Given the description of an element on the screen output the (x, y) to click on. 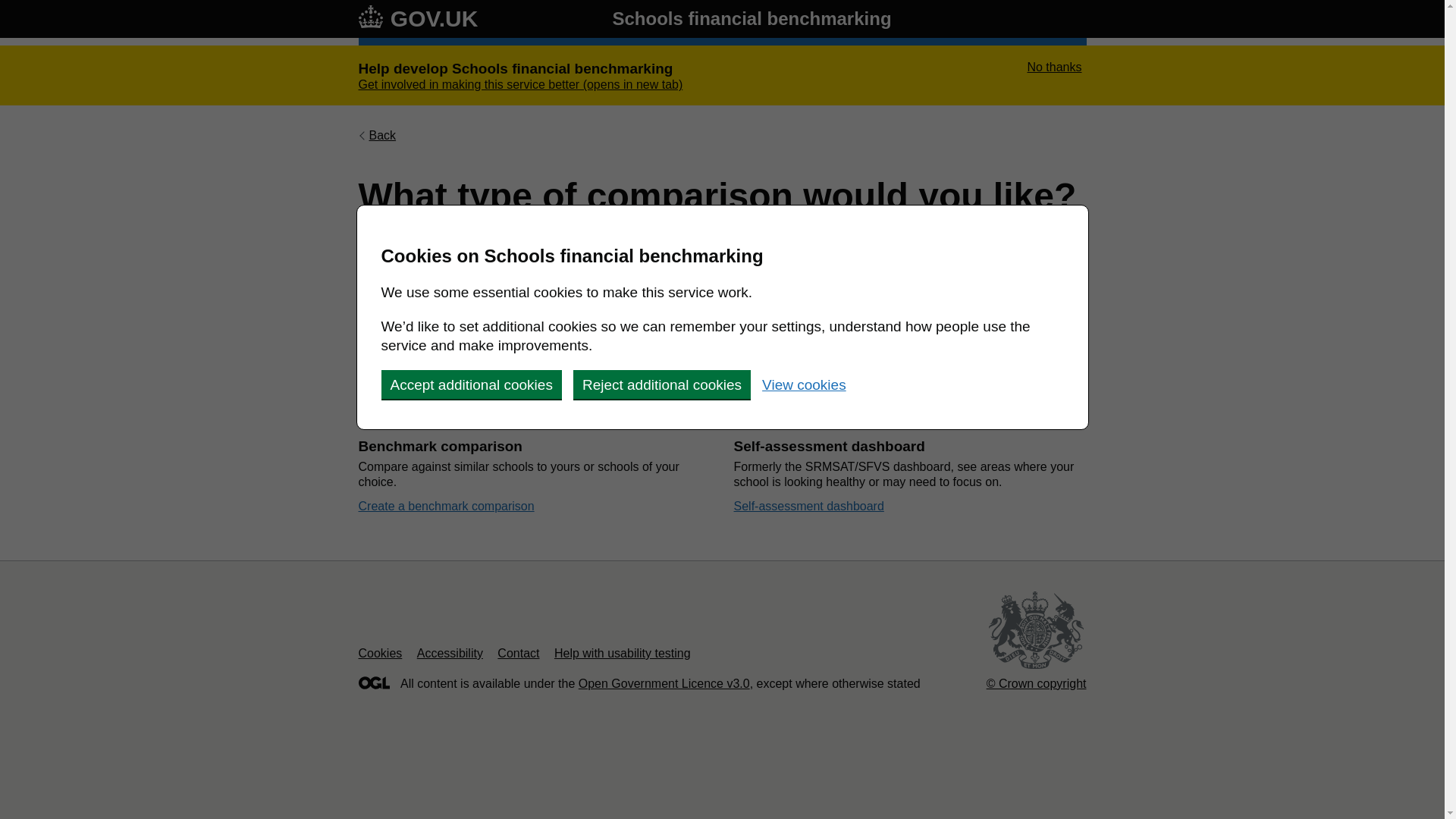
Open Government Licence v3.0 (663, 683)
View cookies (803, 384)
Get involved form will open in a new page (520, 84)
Back (377, 135)
Create a benchmark comparison (446, 505)
Contact (517, 653)
Accept additional cookies (470, 384)
Schools financial benchmarking (751, 18)
Skip to main content (11, 7)
Cookies (379, 653)
Help with usability testing (622, 653)
GOV.UK (417, 18)
Accessibility (449, 653)
Reject additional cookies (662, 384)
Self-assessment dashboard (808, 505)
